Given the description of an element on the screen output the (x, y) to click on. 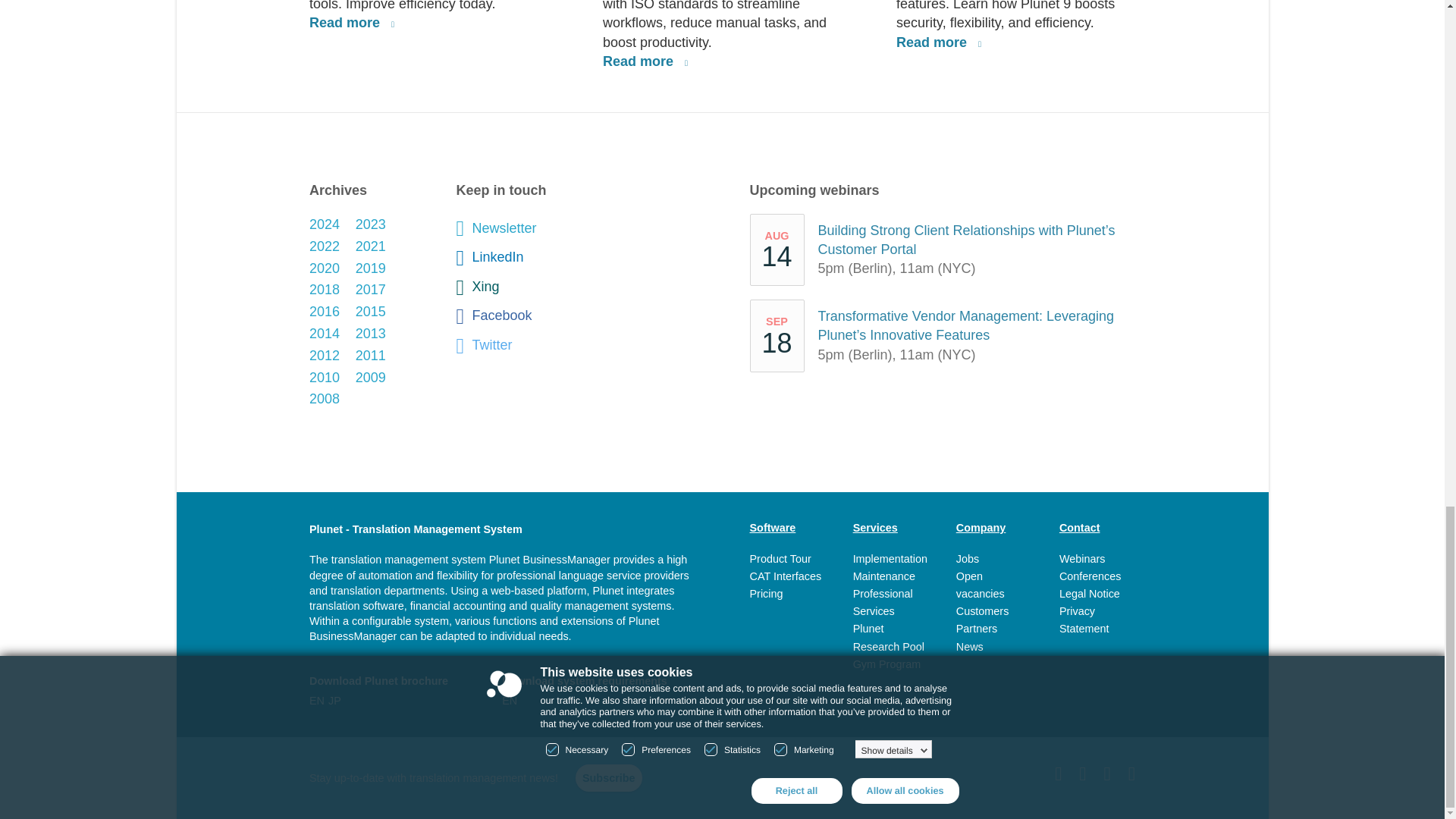
Subscribe (608, 777)
